Given the description of an element on the screen output the (x, y) to click on. 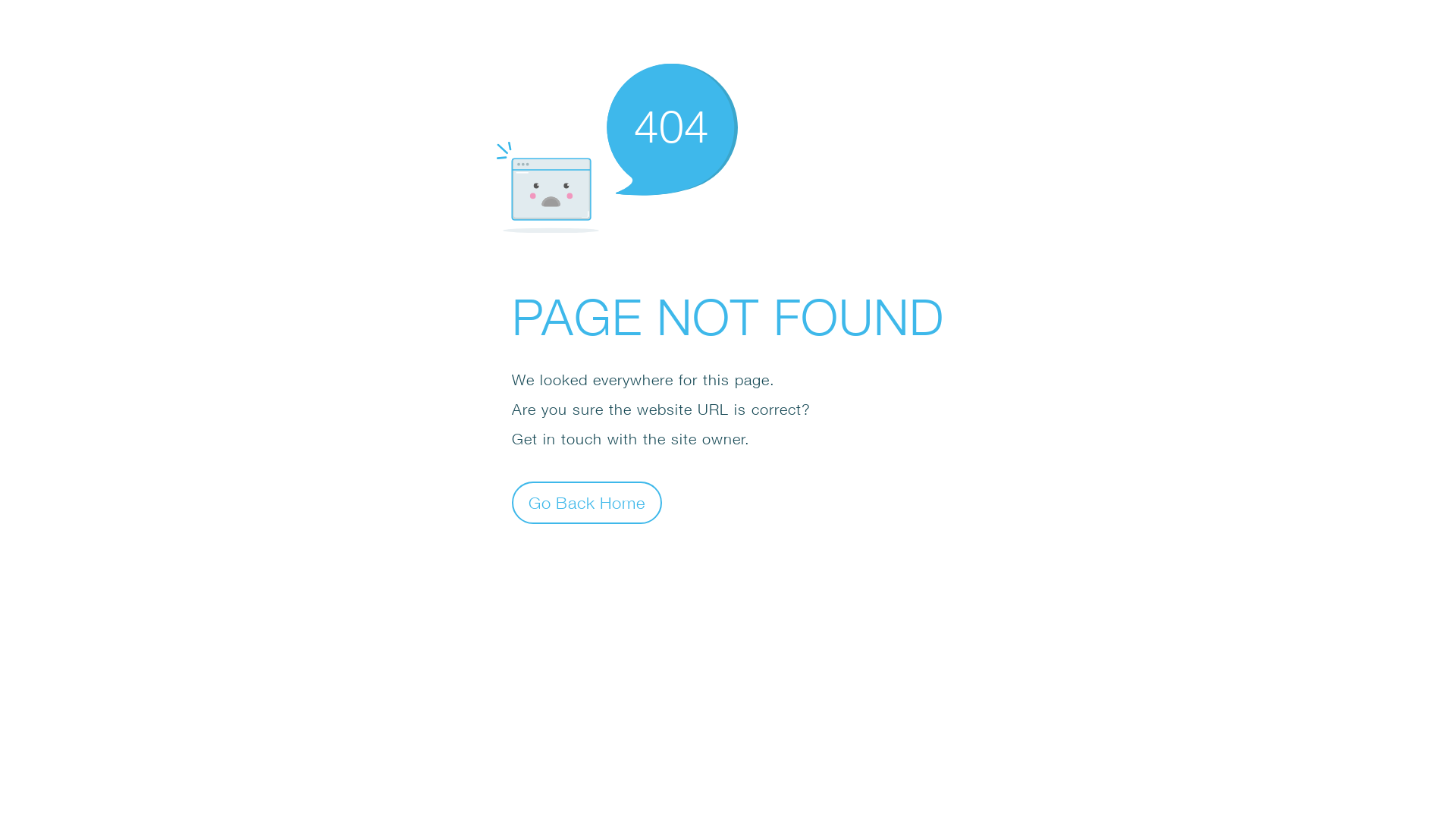
Go Back Home Element type: text (586, 502)
